Given the description of an element on the screen output the (x, y) to click on. 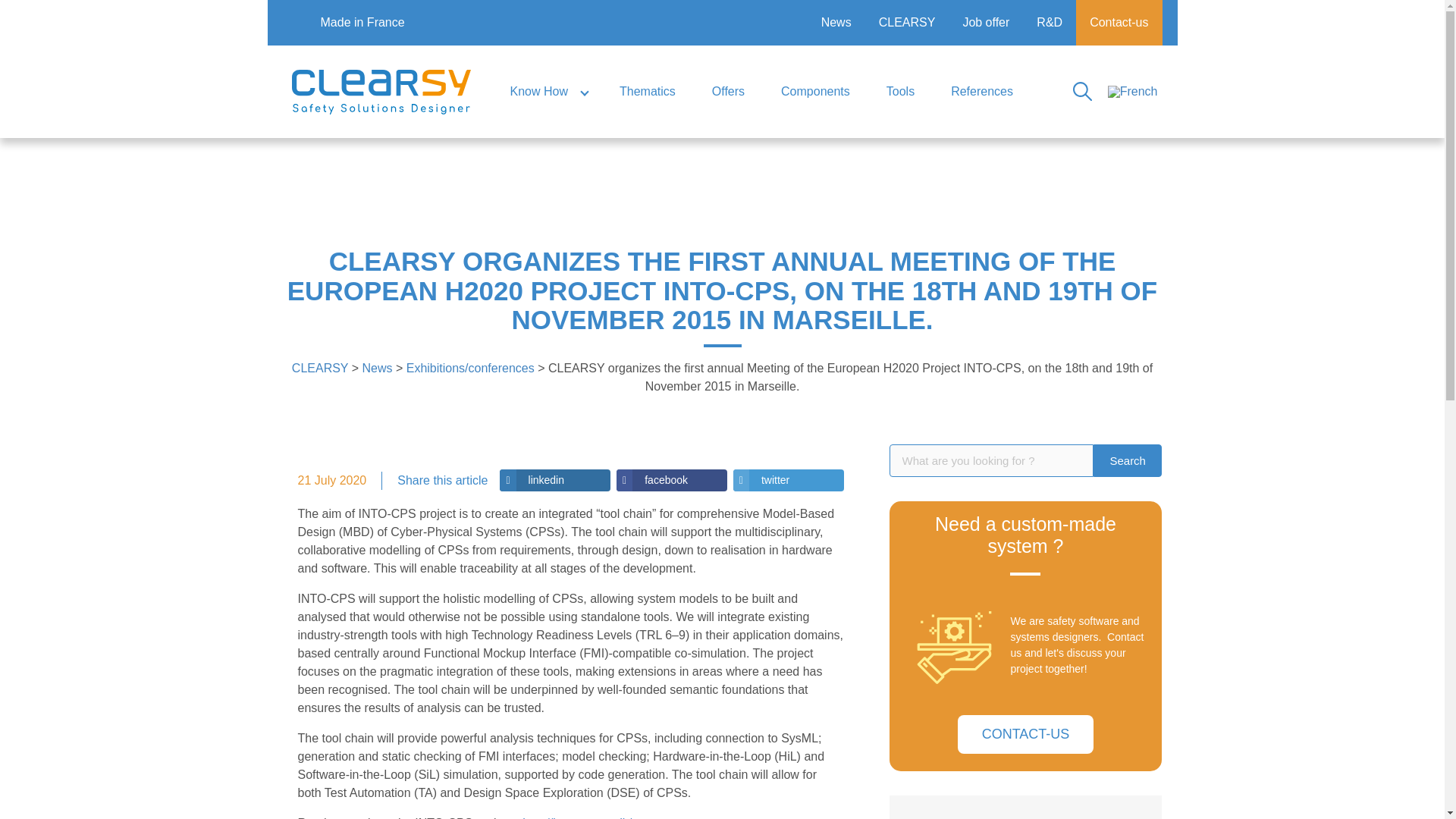
News (836, 22)
Job offer (986, 22)
CLEARSY (906, 22)
Search (1127, 460)
Go to News. (376, 367)
Know How (545, 91)
Go to CLEARSY. (319, 367)
Contact-us (1118, 22)
